Given the description of an element on the screen output the (x, y) to click on. 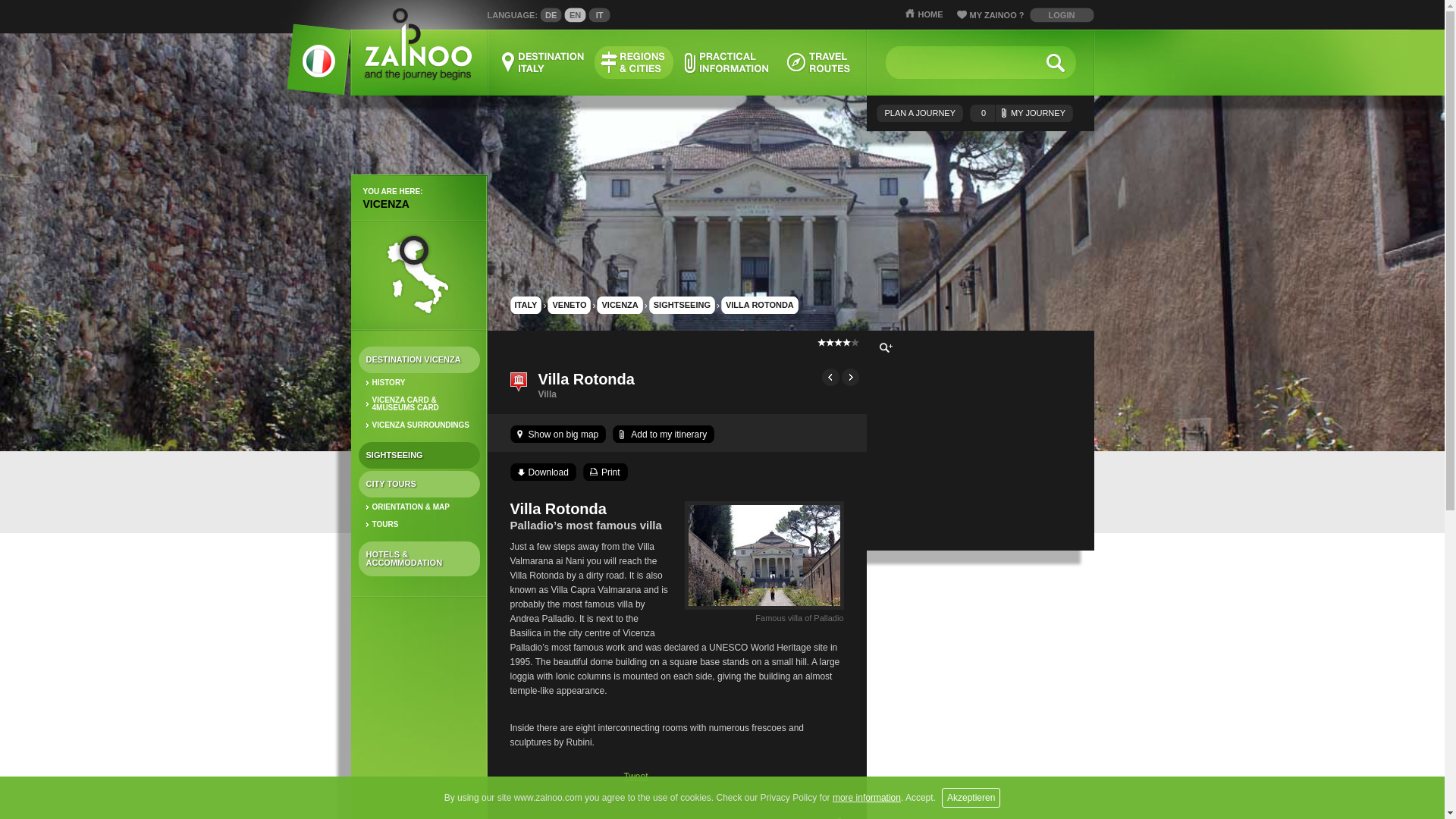
Famous villa of Palladio, Villa Rotonda (763, 609)
MY ZAINOO ? (992, 16)
CITY TOURS (418, 483)
DE (551, 14)
DESTINATION VICENZA (418, 359)
VENETO (568, 304)
Download (541, 471)
IT (599, 14)
more information (866, 797)
VILLA ROTONDA (759, 304)
SIGHTSEEING (681, 304)
Online travel guide Vicenza (418, 275)
SIGHTSEEING (418, 455)
EN (575, 14)
Akzeptieren (971, 797)
